Given the description of an element on the screen output the (x, y) to click on. 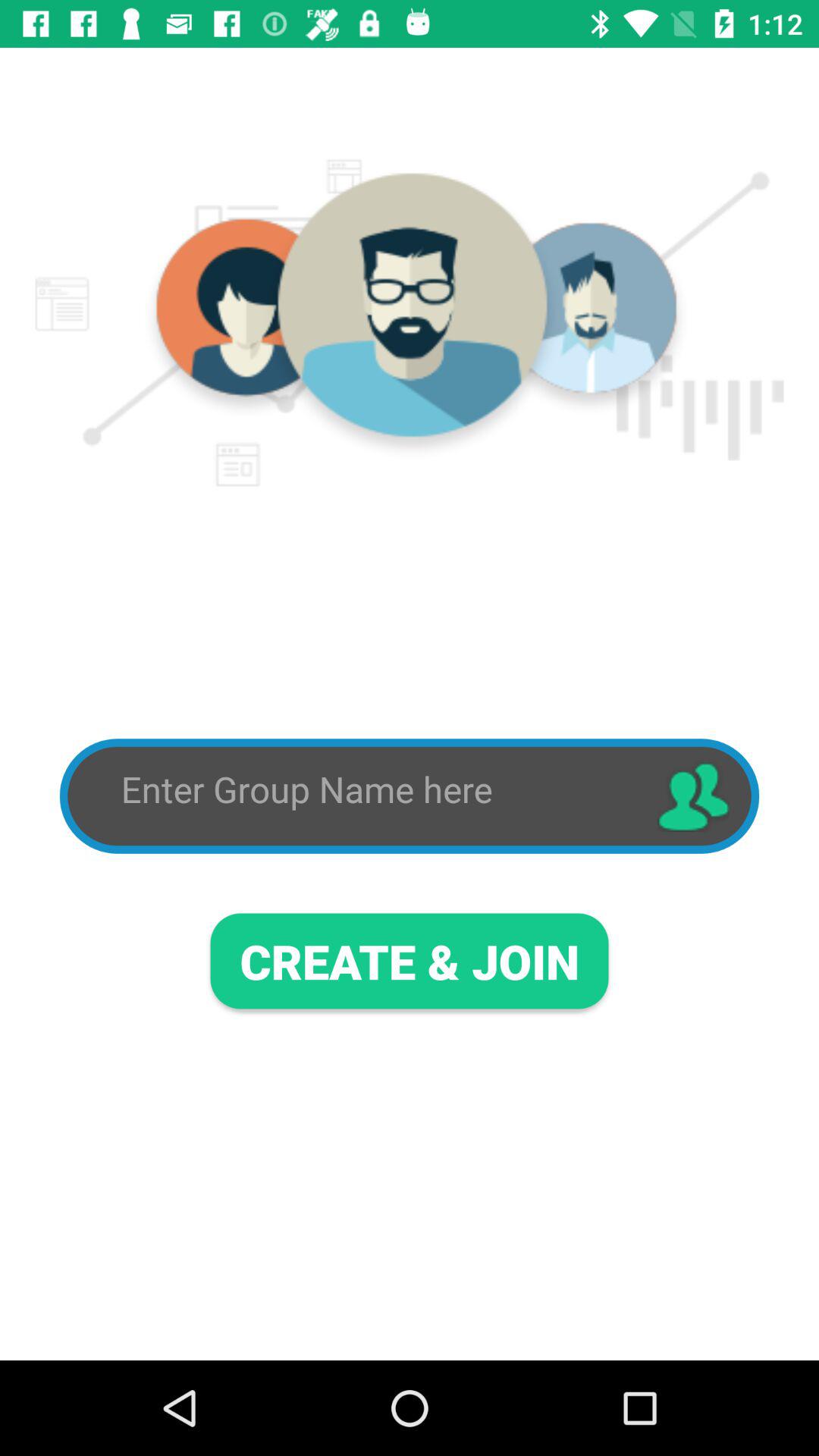
interact to type in group name (374, 790)
